Given the description of an element on the screen output the (x, y) to click on. 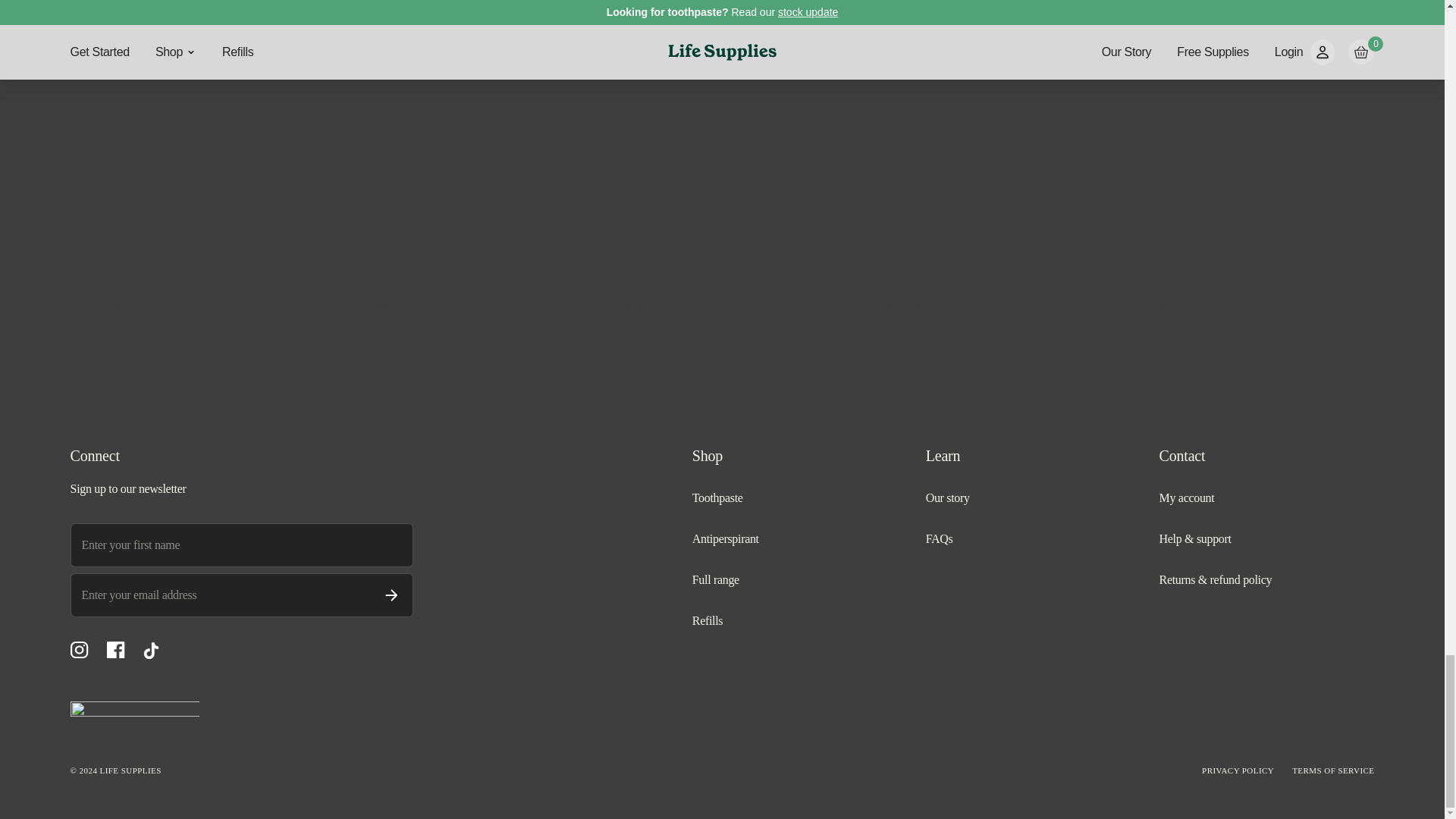
Instagram (78, 650)
Facebook (115, 650)
